Given the description of an element on the screen output the (x, y) to click on. 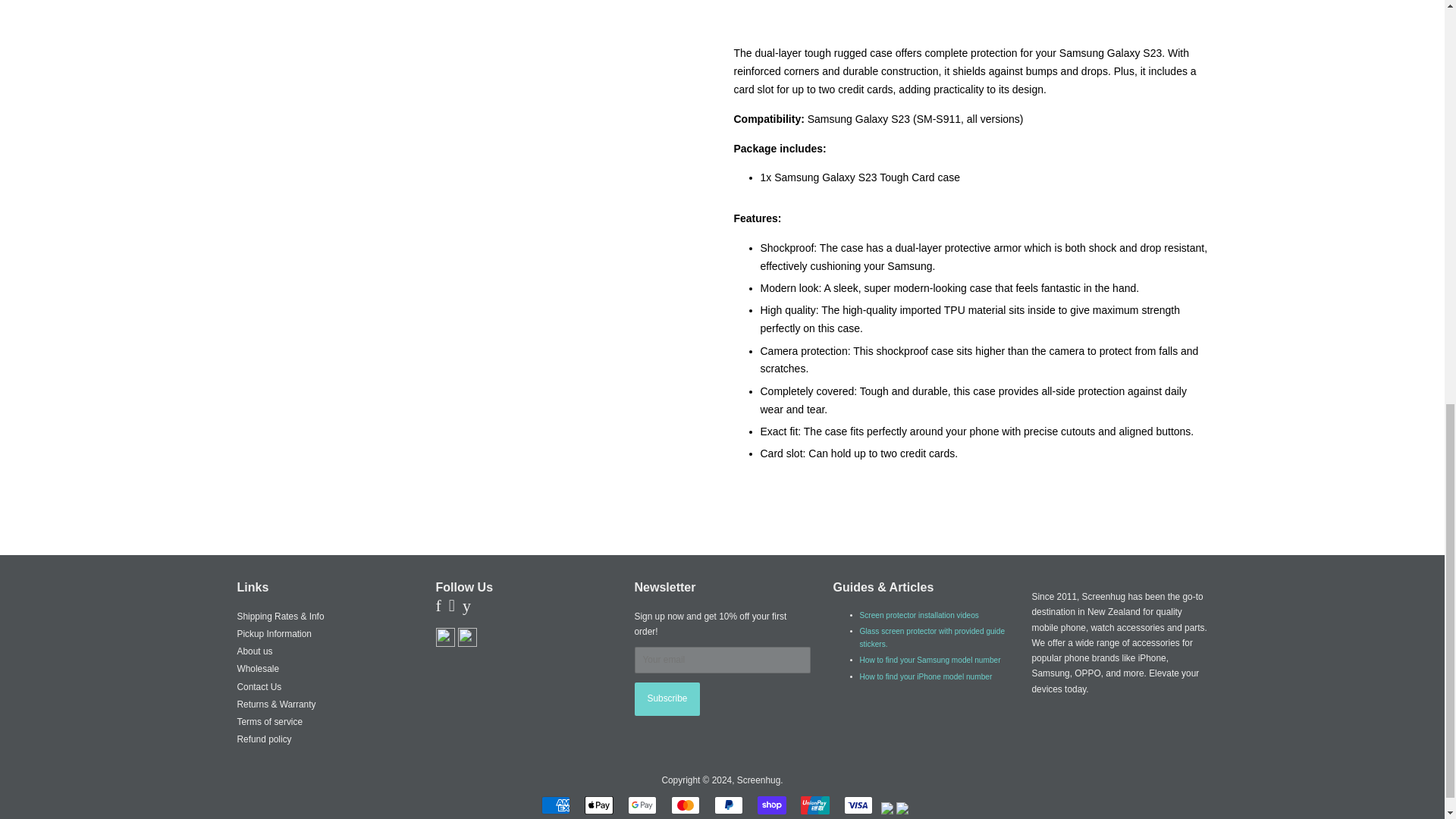
Subscribe (666, 698)
Shop Pay (771, 805)
Visa (858, 805)
Google Pay (641, 805)
PayPal (728, 805)
Union Pay (814, 805)
American Express (555, 805)
Apple Pay (598, 805)
Mastercard (685, 805)
